Given the description of an element on the screen output the (x, y) to click on. 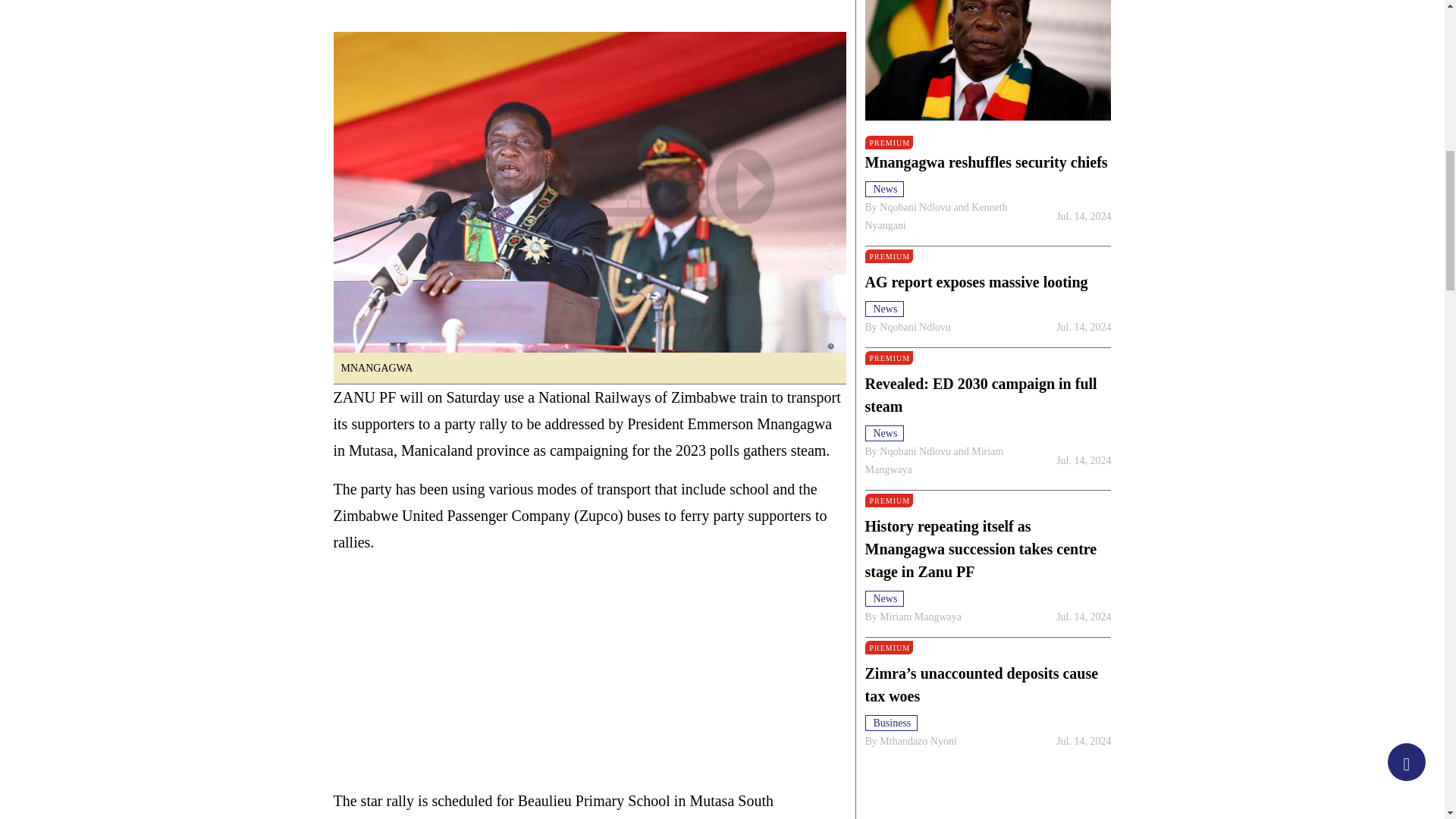
3rd party ad content (589, 678)
